Given the description of an element on the screen output the (x, y) to click on. 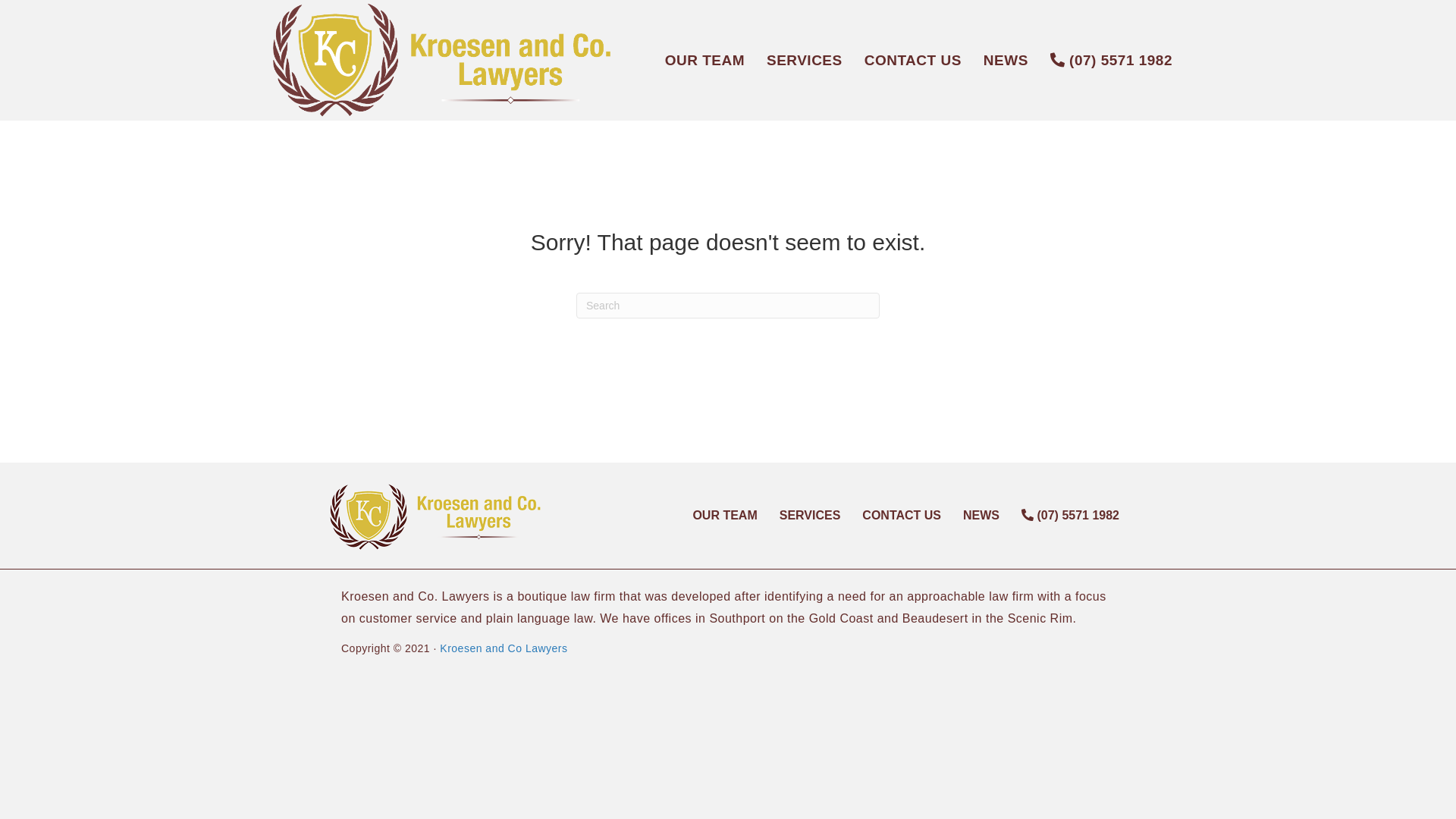
(07) 5571 1982 Element type: text (1111, 59)
CONTACT US Element type: text (901, 515)
OUR TEAM Element type: text (724, 515)
SERVICES Element type: text (809, 515)
Kroesen and Co Lawyers Element type: text (503, 648)
SERVICES Element type: text (804, 60)
CONTACT US Element type: text (912, 60)
Type and press Enter to search. Element type: hover (727, 305)
OUR TEAM Element type: text (704, 60)
(07) 5571 1982 Element type: text (1069, 515)
NEWS Element type: text (1005, 60)
NEWS Element type: text (981, 515)
kroesen-and-co-lawyers-logo Element type: hover (439, 515)
Kroesen-and-Co-Lawyers-Large Element type: hover (441, 59)
